Given the description of an element on the screen output the (x, y) to click on. 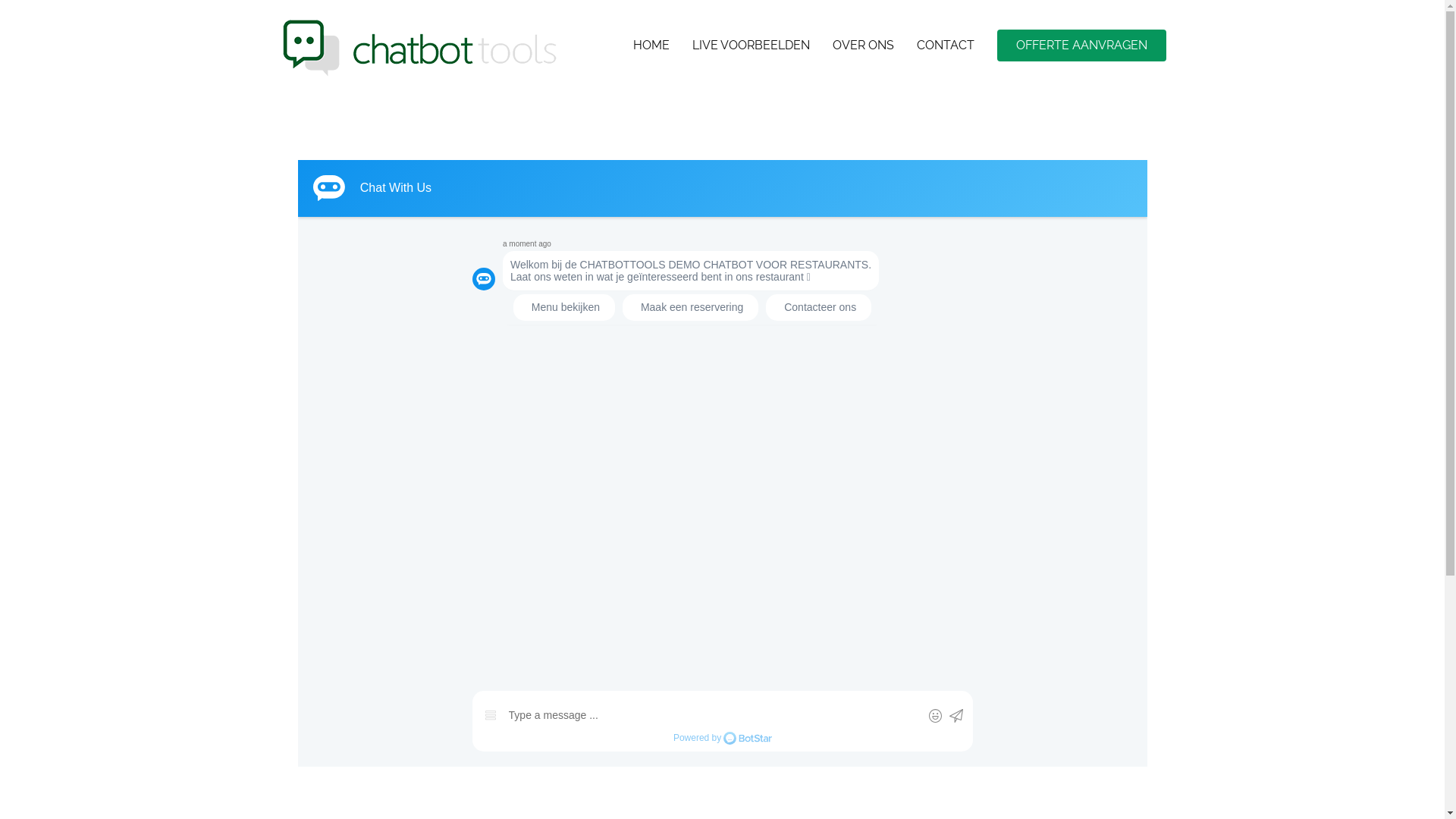
HOME Element type: text (650, 45)
OVER ONS Element type: text (863, 45)
CONTACT Element type: text (944, 45)
LIVE VOORBEELDEN Element type: text (750, 45)
OFFERTE AANVRAGEN Element type: text (1080, 45)
